Given the description of an element on the screen output the (x, y) to click on. 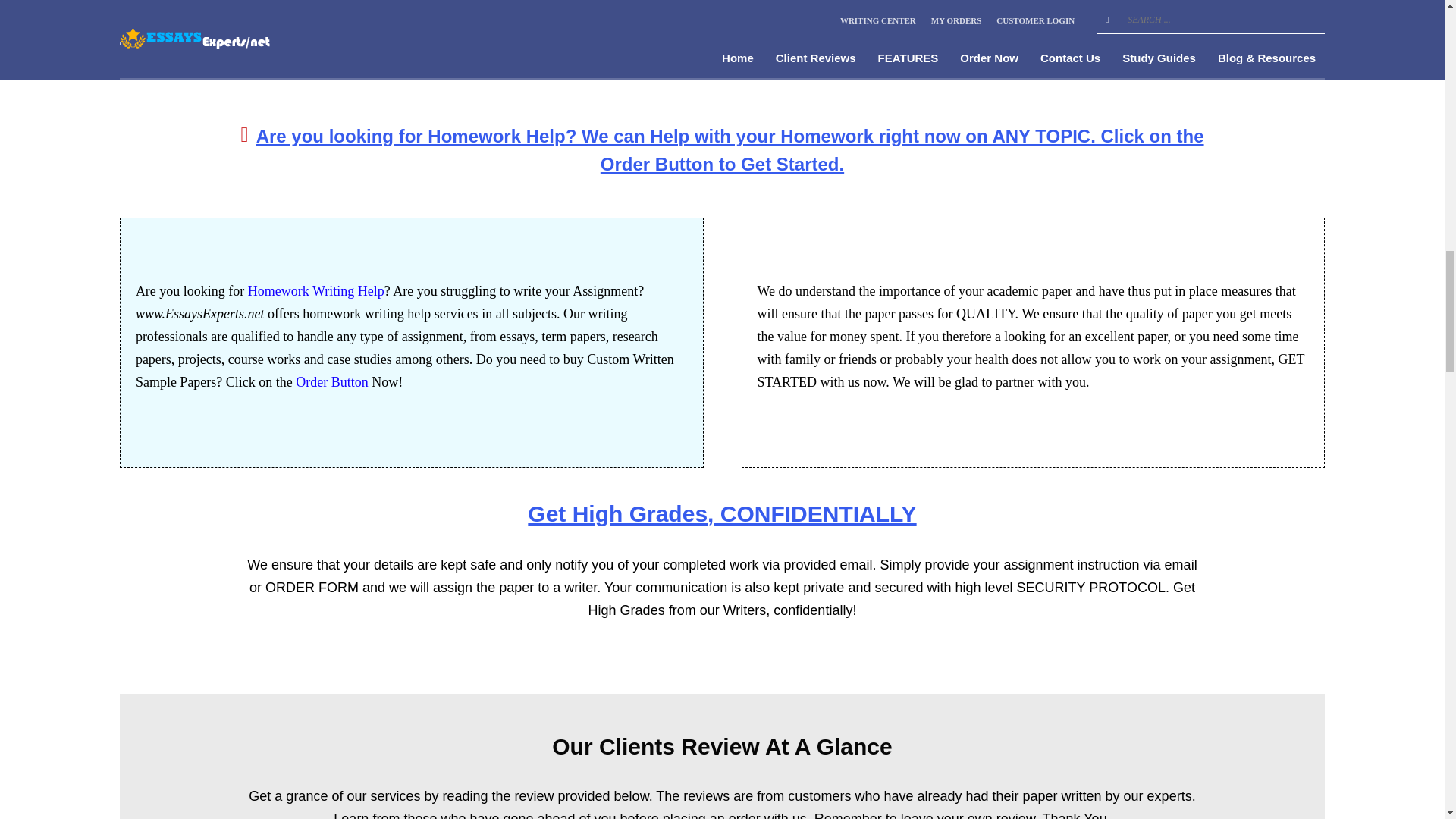
ACADEMIC WRITING HELP (1140, 58)
Order Button (331, 381)
Homework Writing Help (315, 290)
